Given the description of an element on the screen output the (x, y) to click on. 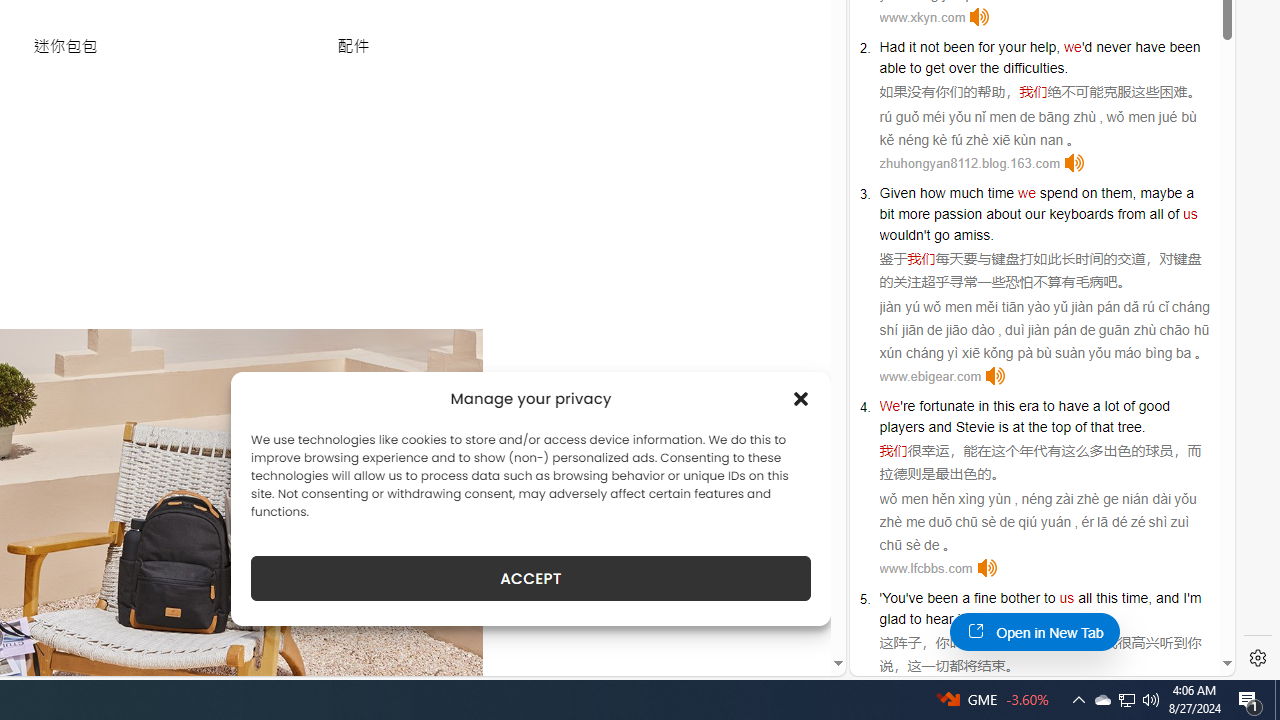
this (1106, 597)
zhuhongyan8112.blog.163.com (969, 163)
us (1066, 597)
maybe (1161, 192)
from (1131, 213)
your (1012, 46)
www.ebigear.com (930, 375)
